Given the description of an element on the screen output the (x, y) to click on. 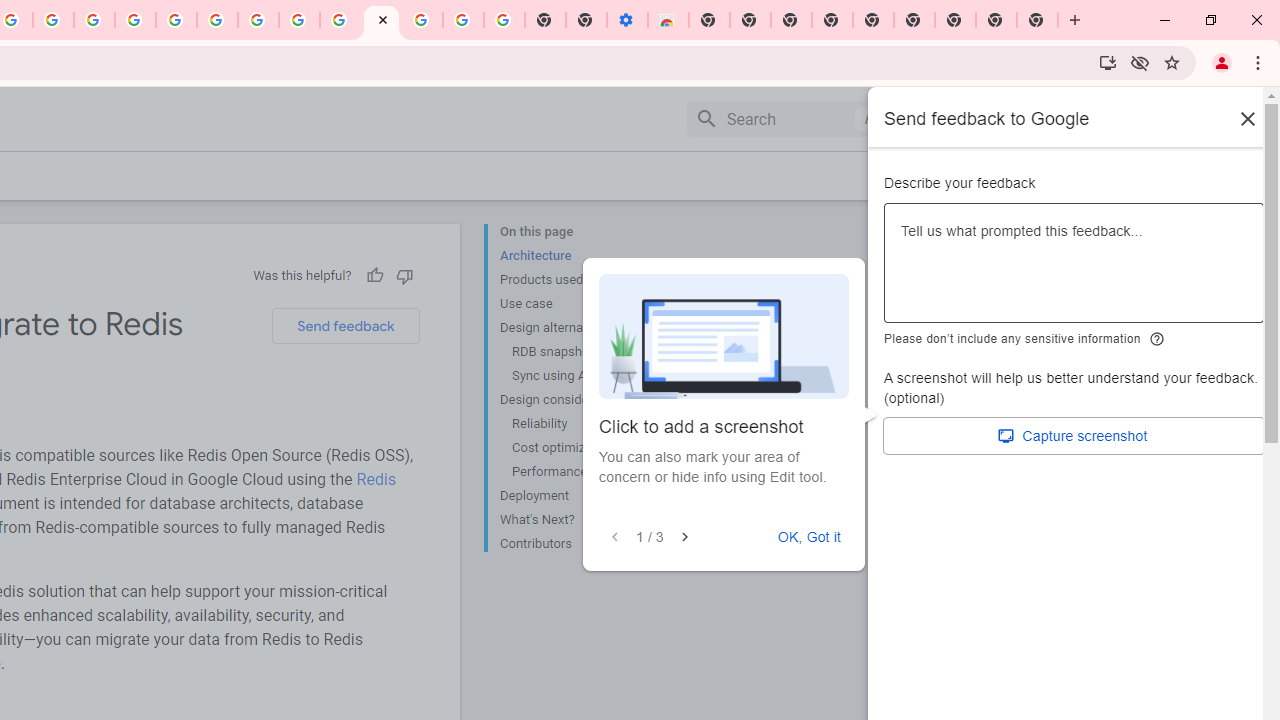
Not helpful (404, 275)
Search (786, 118)
Design considerations (580, 399)
Reliability (585, 423)
New Tab (708, 20)
OK, Got it (809, 537)
Helpful (374, 275)
Create your Google Account (299, 20)
Next (683, 537)
New Tab (1037, 20)
New Tab (955, 20)
Create your Google Account (53, 20)
Support (1000, 119)
Settings - Accessibility (626, 20)
